Given the description of an element on the screen output the (x, y) to click on. 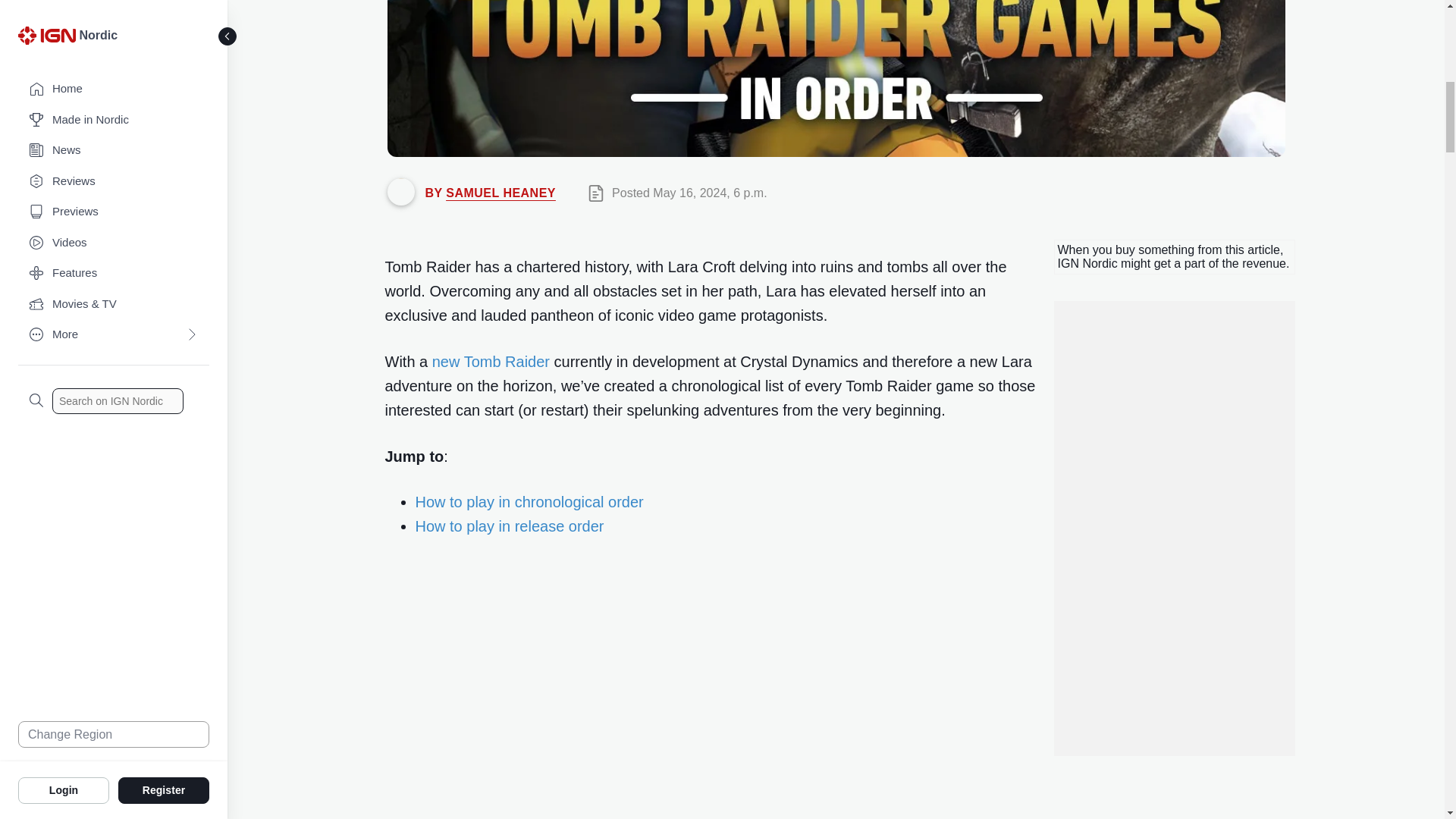
SAMUEL HEANEY (499, 192)
new Tomb Raider (491, 361)
